Given the description of an element on the screen output the (x, y) to click on. 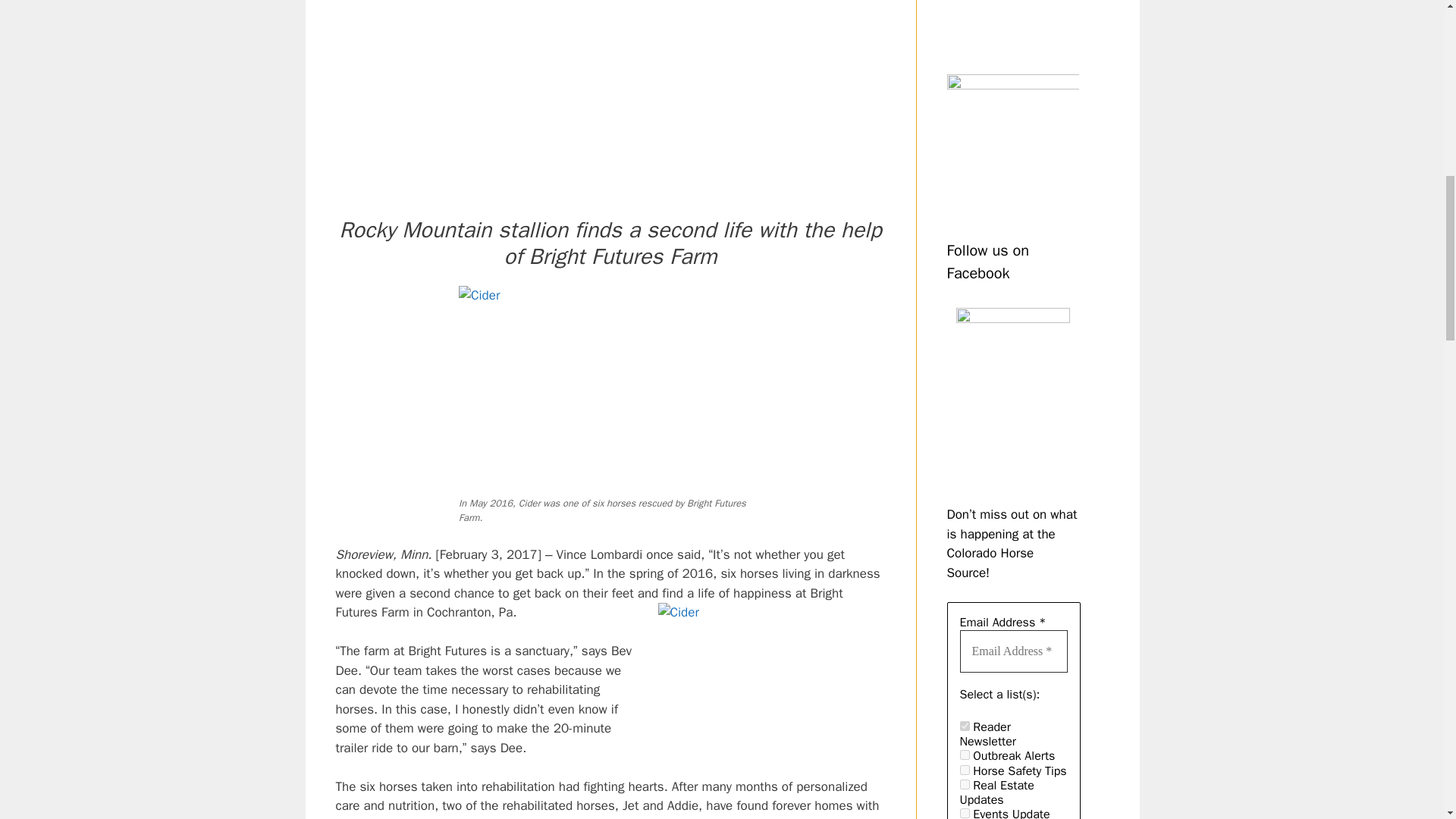
17 (964, 726)
14 (964, 769)
19 (964, 813)
Email Address (1013, 650)
16 (964, 784)
18 (964, 755)
